Given the description of an element on the screen output the (x, y) to click on. 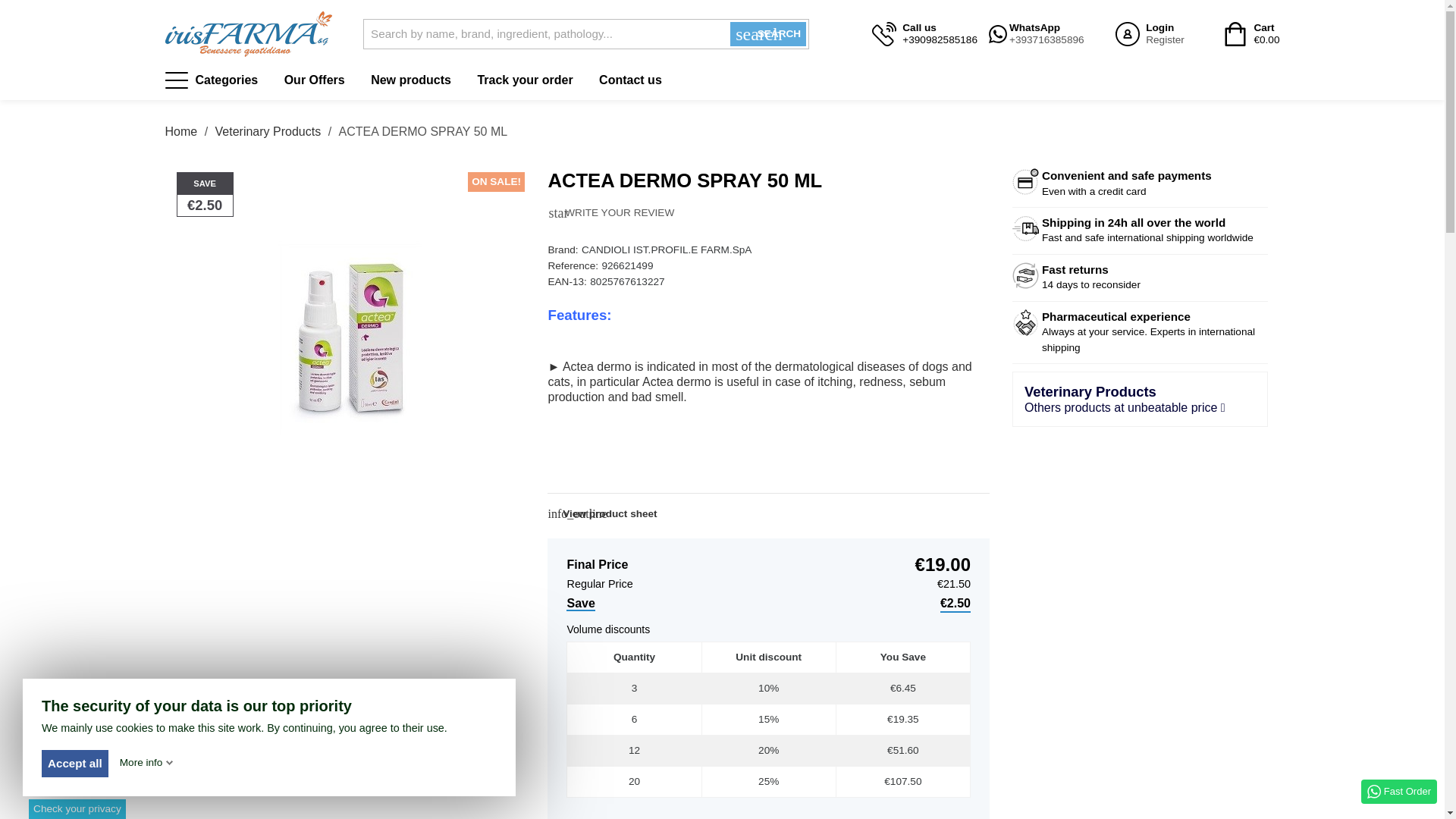
search SEARCH (1150, 34)
View your cart (768, 33)
Log in to your customer account (1251, 34)
